Given the description of an element on the screen output the (x, y) to click on. 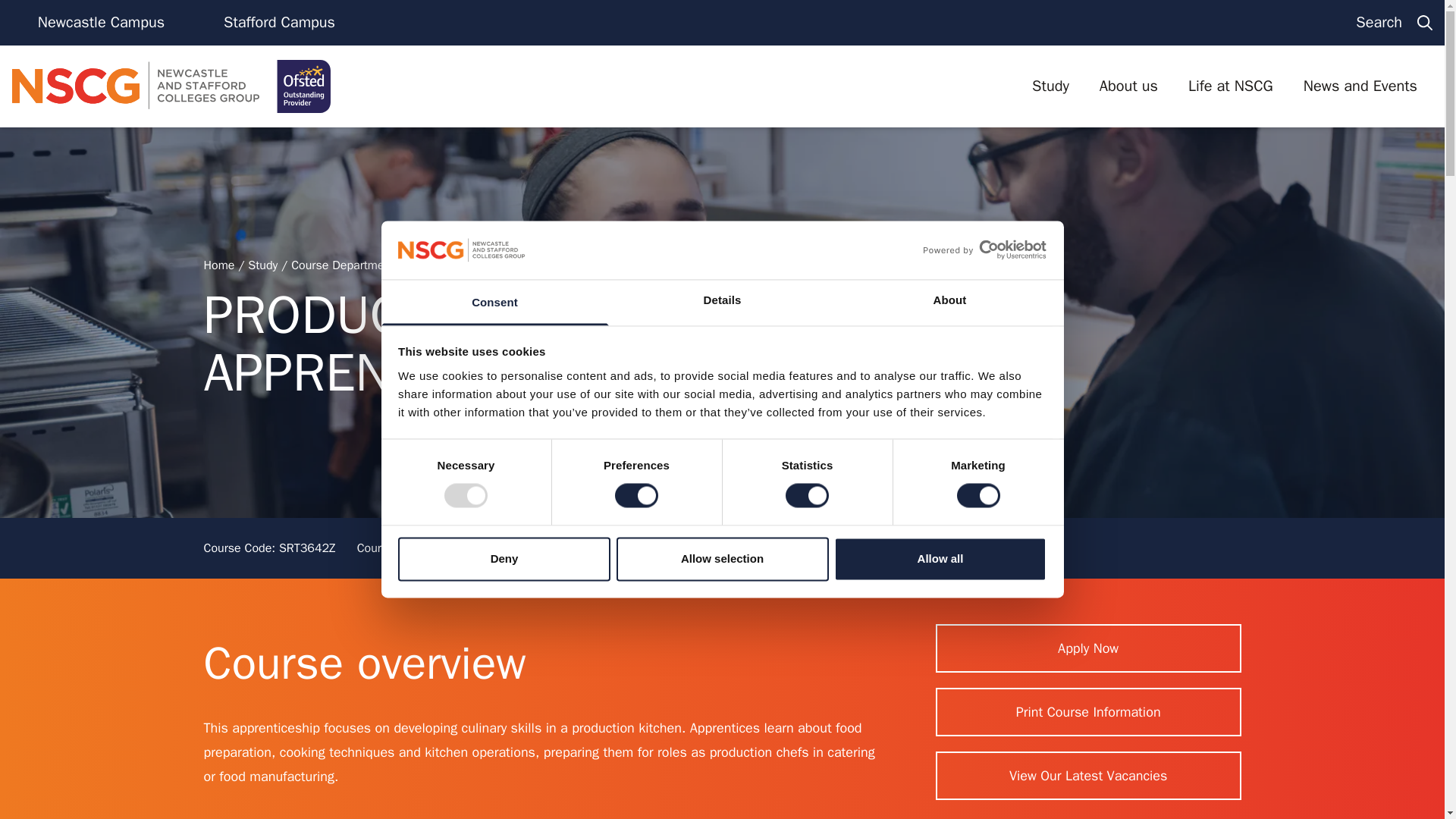
Open search bar (1393, 22)
Go to homepage (170, 86)
Newcastle Campus (100, 22)
Details (721, 302)
About (948, 302)
Consent (494, 302)
Stafford Campus (279, 22)
